Given the description of an element on the screen output the (x, y) to click on. 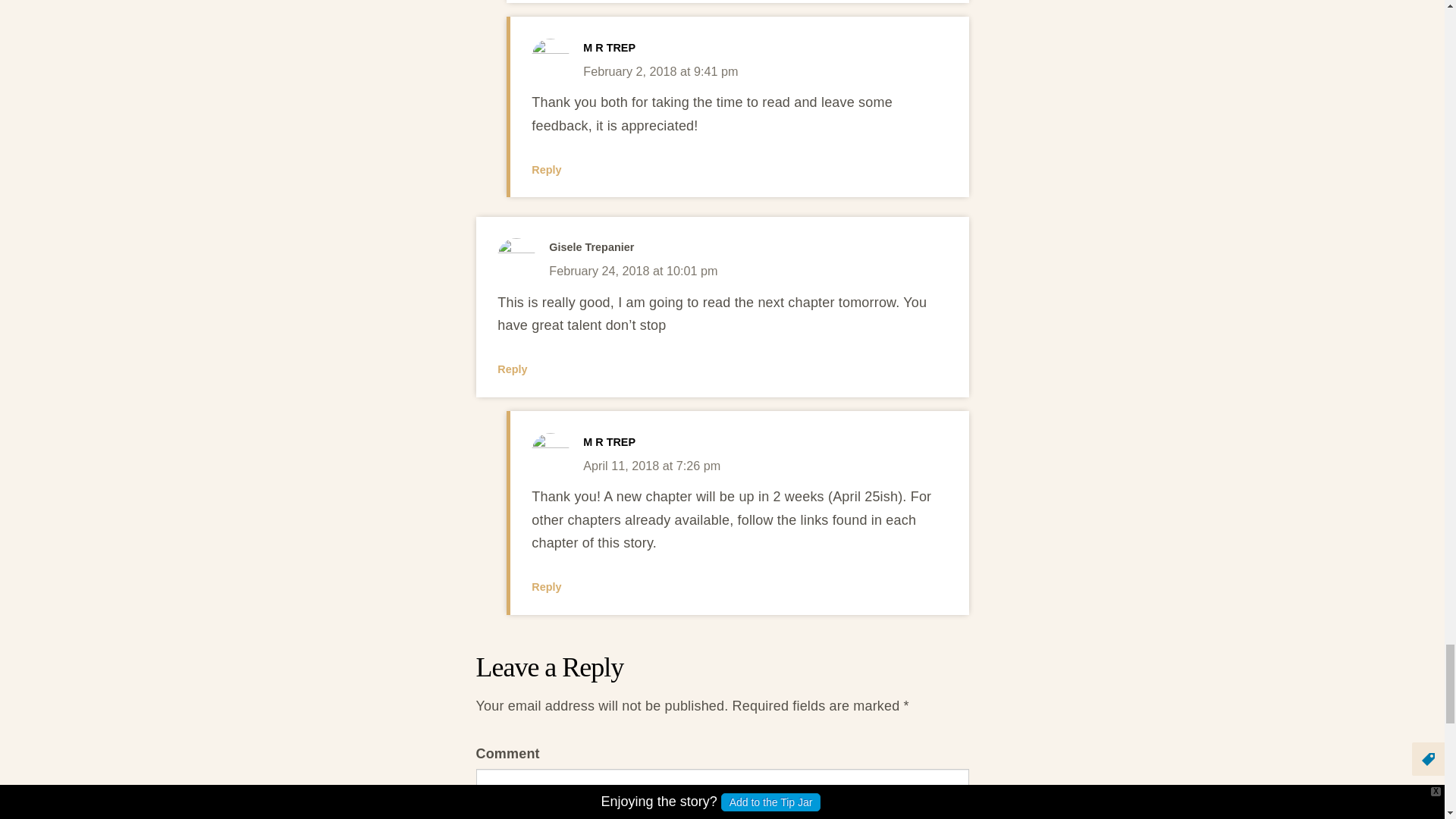
M R TREP (608, 47)
Reply (545, 169)
Reply (545, 586)
February 24, 2018 at 10:01 pm (632, 270)
M R TREP (608, 441)
April 11, 2018 at 7:26 pm (651, 465)
February 2, 2018 at 9:41 pm (660, 70)
Reply (512, 369)
